Given the description of an element on the screen output the (x, y) to click on. 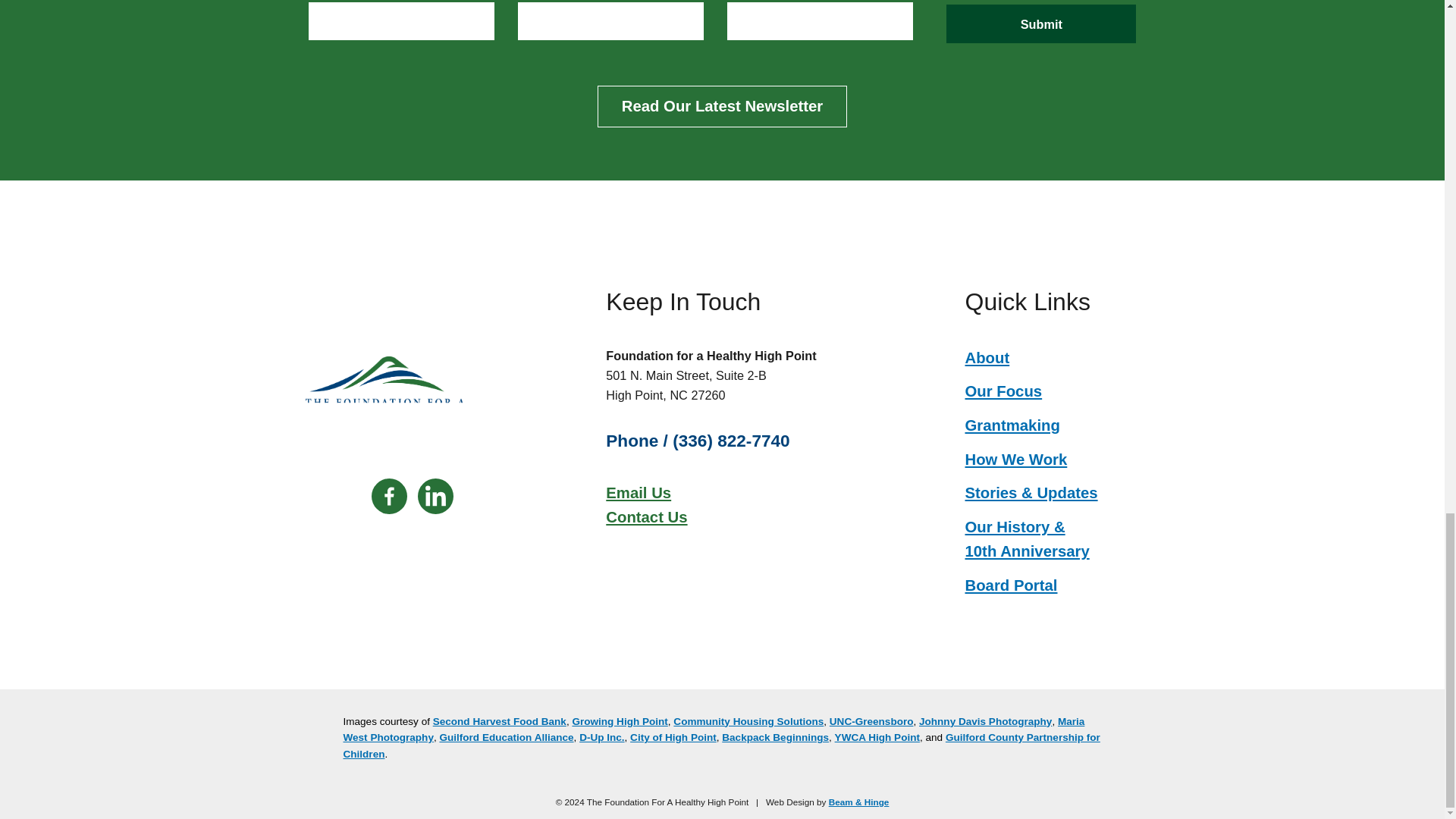
Linked In (434, 495)
About (986, 357)
Our Focus (1002, 391)
Facebook (389, 495)
Email Us (646, 493)
Healthy High Point (411, 395)
Grantmaking (1011, 425)
Submit (1040, 23)
Contact Us (646, 517)
Read Our Latest Newsletter (720, 106)
